Given the description of an element on the screen output the (x, y) to click on. 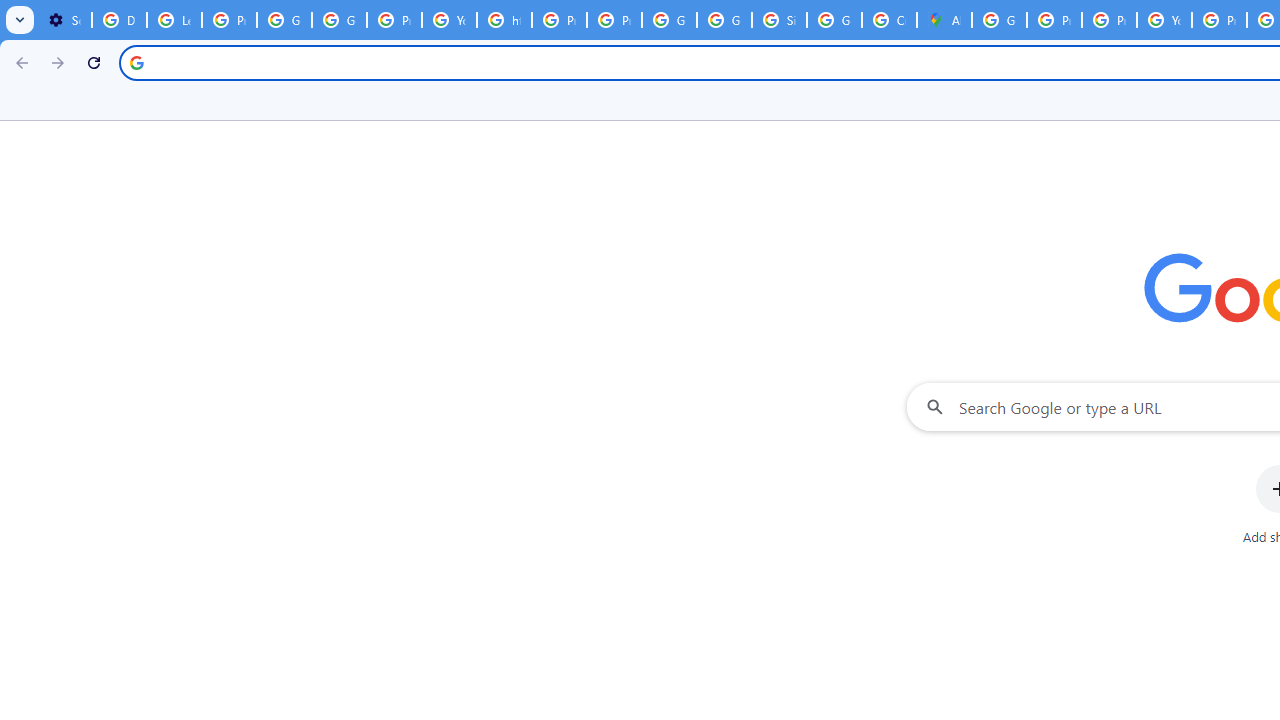
Delete photos & videos - Computer - Google Photos Help (119, 20)
Settings - On startup (64, 20)
Google Account Help (284, 20)
Learn how to find your photos - Google Photos Help (174, 20)
Privacy Help Center - Policies Help (559, 20)
Google Account Help (339, 20)
YouTube (1163, 20)
Privacy Help Center - Policies Help (1108, 20)
